Given the description of an element on the screen output the (x, y) to click on. 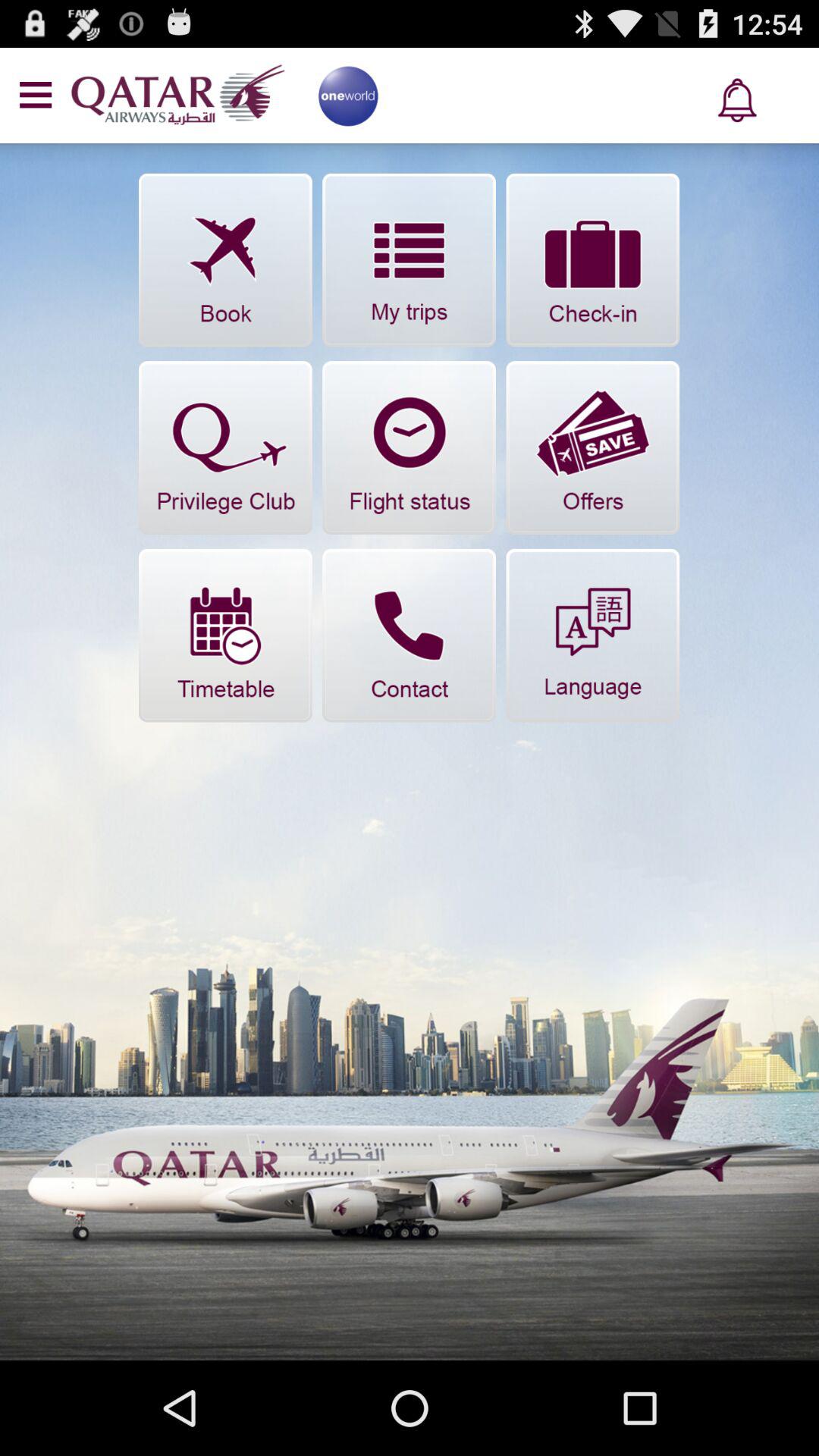
book flight (225, 259)
